Given the description of an element on the screen output the (x, y) to click on. 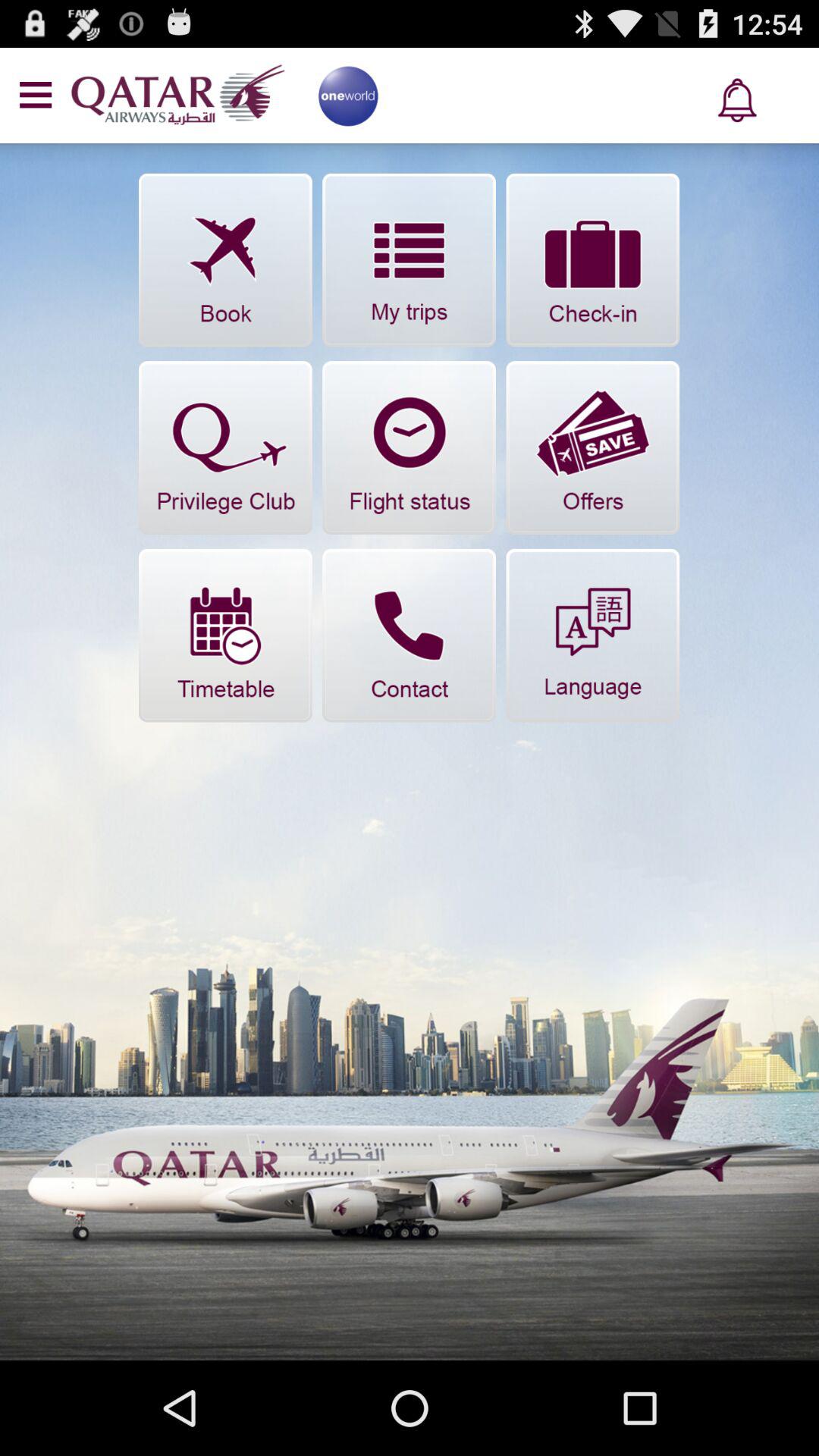
book flight (225, 259)
